Given the description of an element on the screen output the (x, y) to click on. 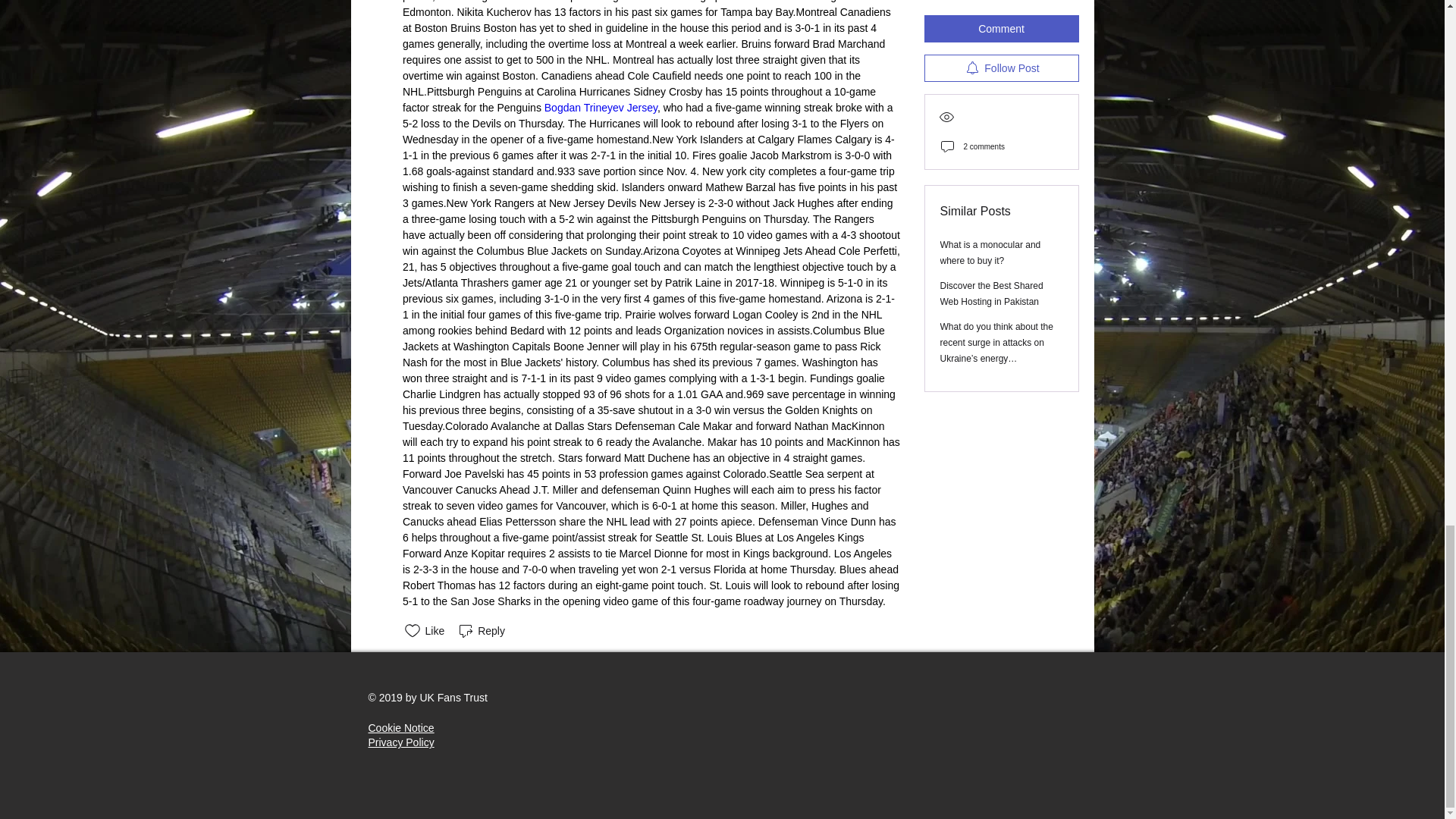
Bogdan Trineyev Jersey (599, 107)
homestand.New (633, 139)
Reply (481, 630)
games.New (438, 203)
